Given the description of an element on the screen output the (x, y) to click on. 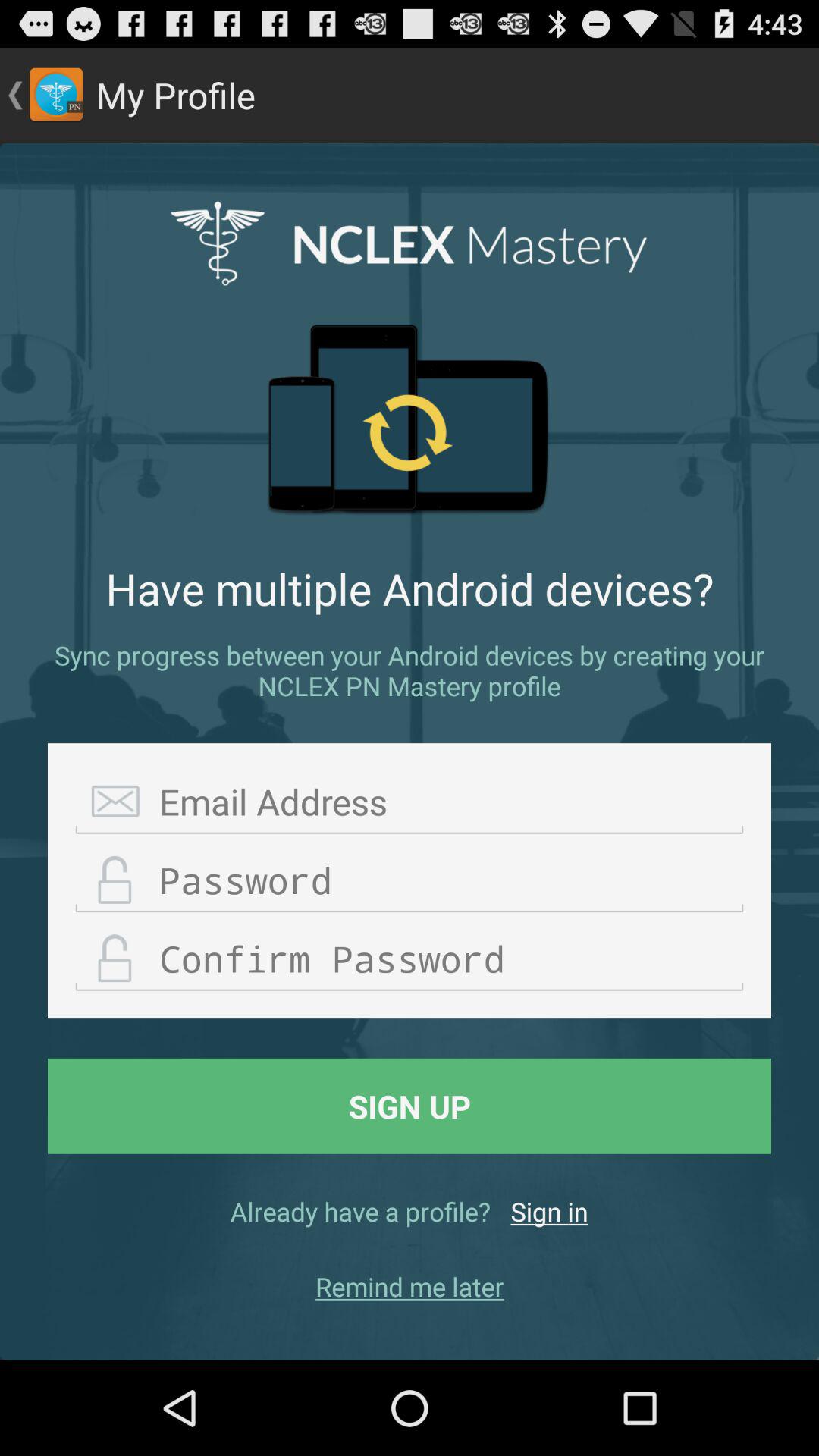
choose item next to already have a icon (549, 1211)
